Given the description of an element on the screen output the (x, y) to click on. 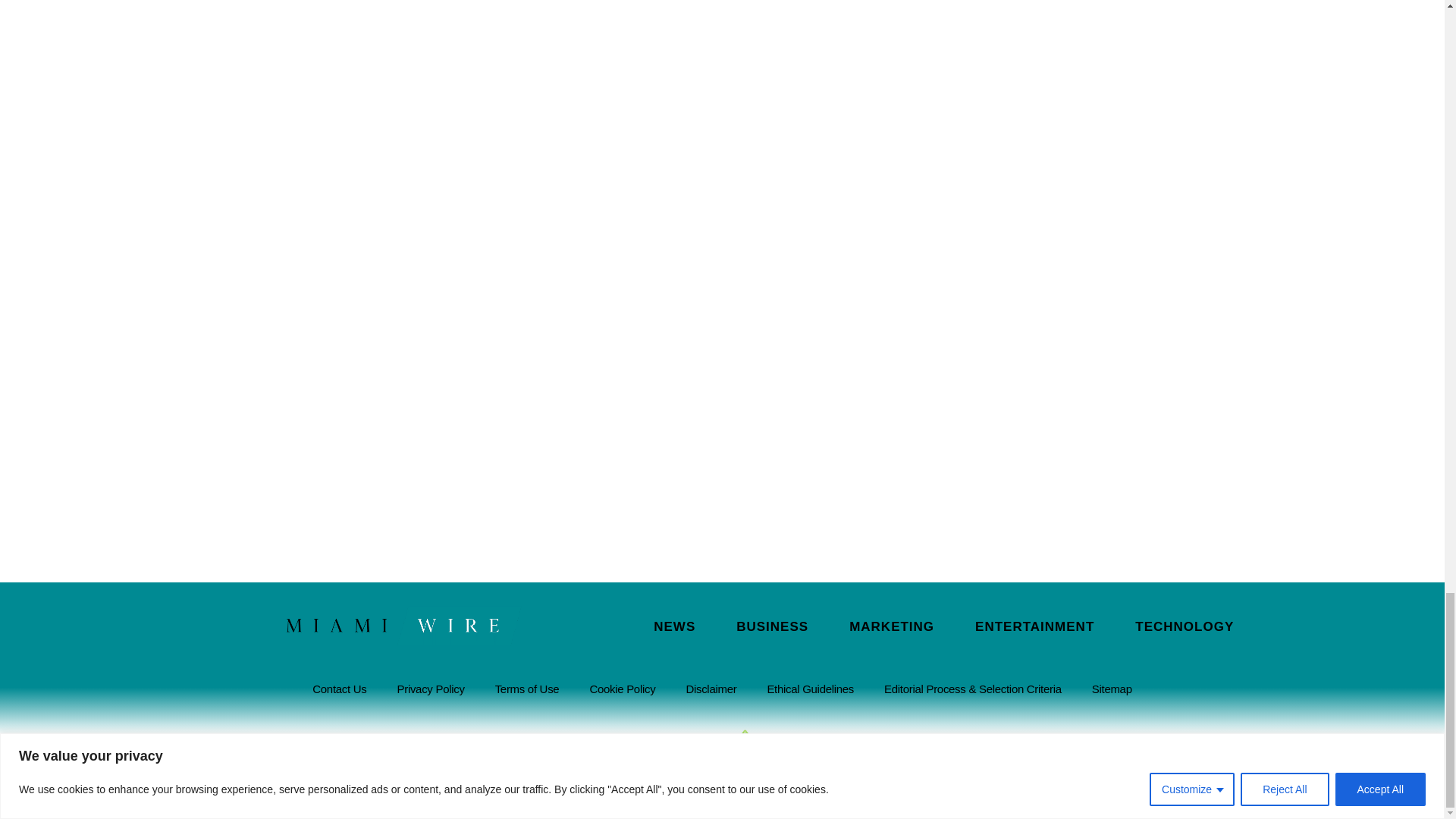
DMCA.com Protection Status (661, 747)
